Given the description of an element on the screen output the (x, y) to click on. 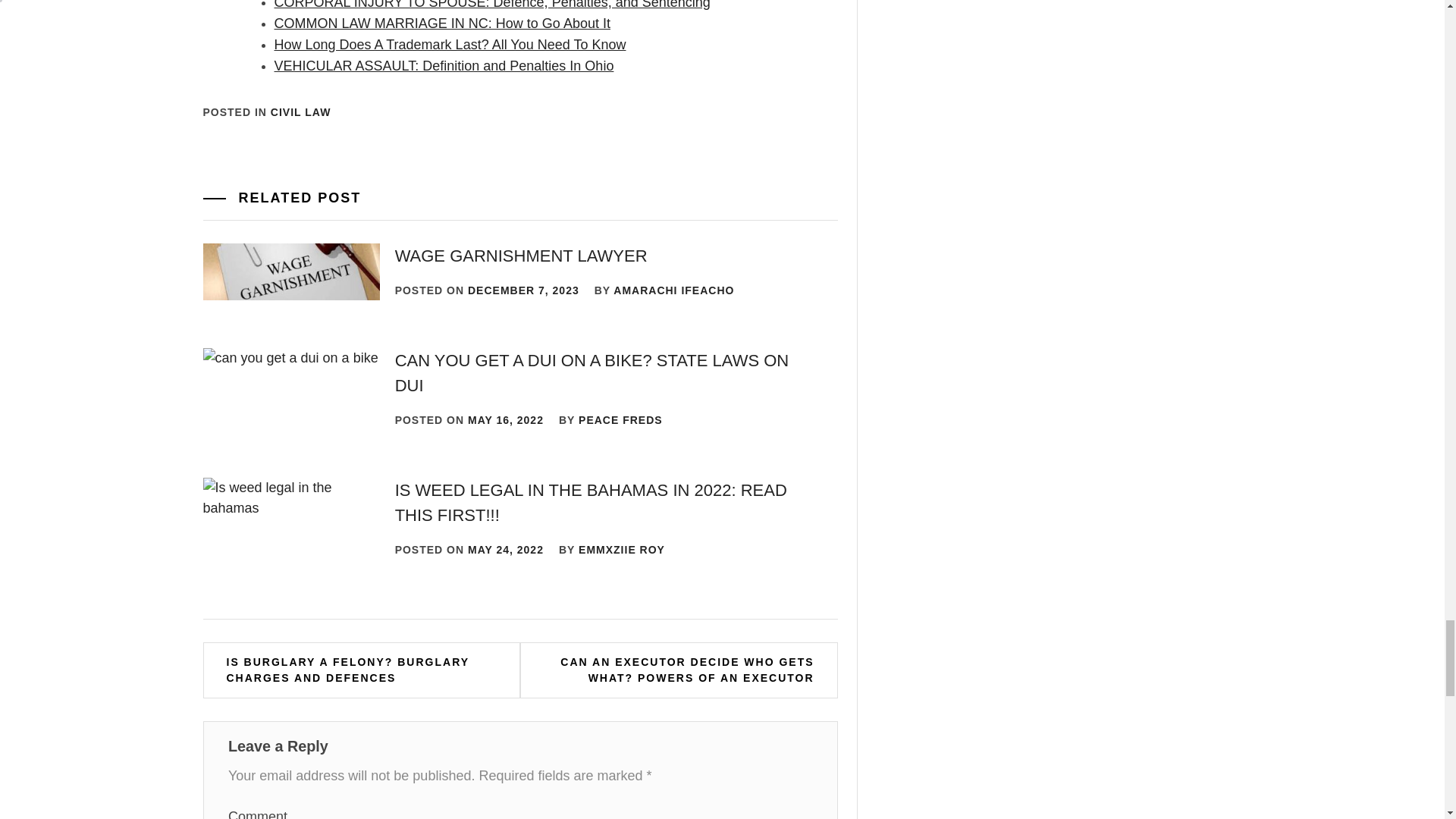
AMARACHI IFEACHO (672, 290)
MAY 16, 2022 (505, 419)
WAGE GARNISHMENT LAWYER (520, 255)
EMMXZIIE ROY (621, 549)
How Long Does A Trademark Last? All You Need To Know (450, 44)
IS WEED LEGAL IN THE BAHAMAS IN 2022: READ THIS FIRST!!! (590, 502)
CAN YOU GET A DUI ON A BIKE? STATE LAWS ON DUI (591, 372)
CIVIL LAW (300, 111)
MAY 24, 2022 (505, 549)
VEHICULAR ASSAULT: Definition and Penalties In Ohio (444, 65)
COMMON LAW MARRIAGE IN NC: How to Go About It (442, 23)
DECEMBER 7, 2023 (523, 290)
PEACE FREDS (620, 419)
